Given the description of an element on the screen output the (x, y) to click on. 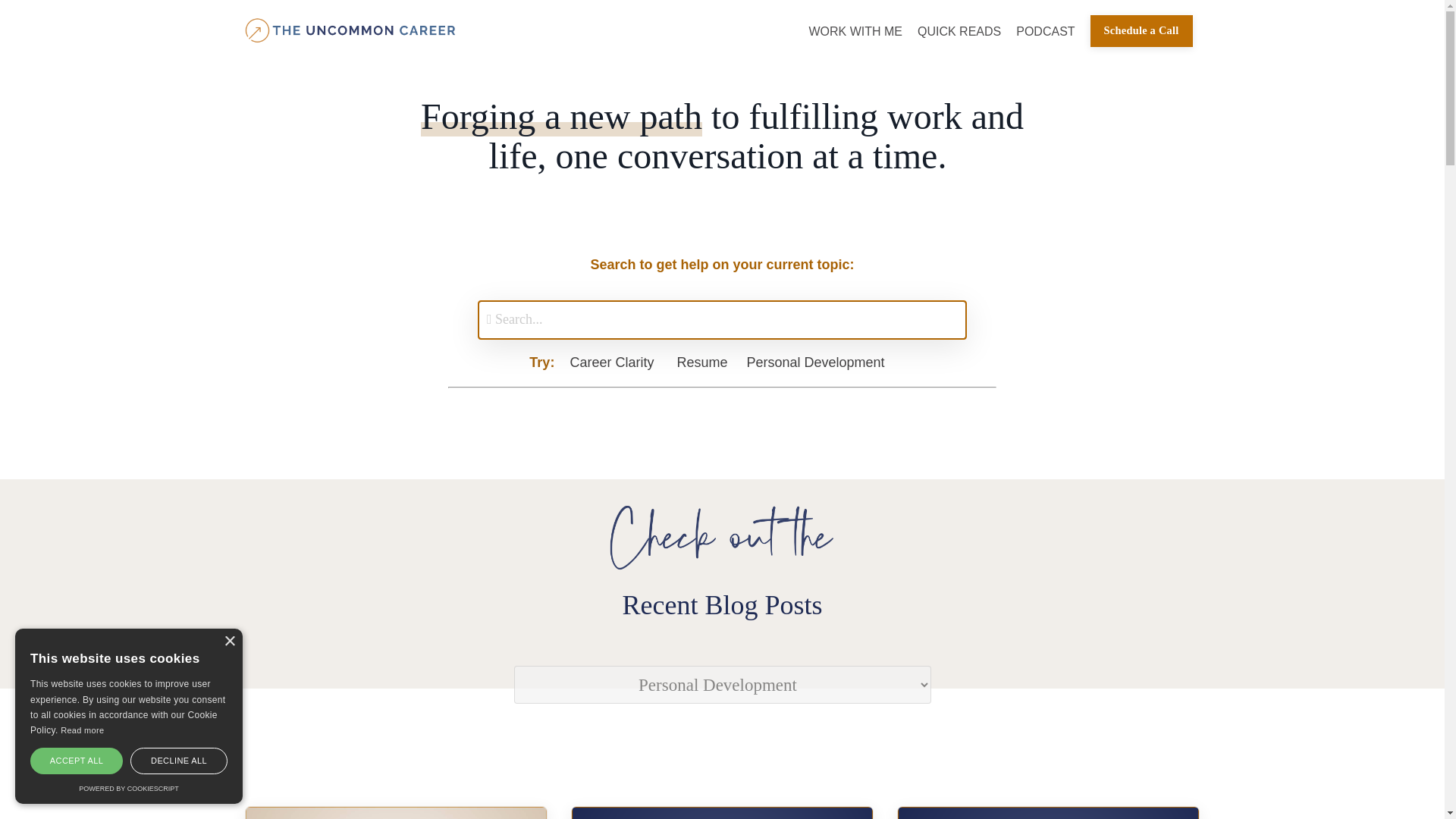
PODCAST (1045, 31)
Consent Management Platform (127, 788)
Schedule a Call (1141, 30)
QUICK READS (959, 31)
WORK WITH ME (855, 31)
